Given the description of an element on the screen output the (x, y) to click on. 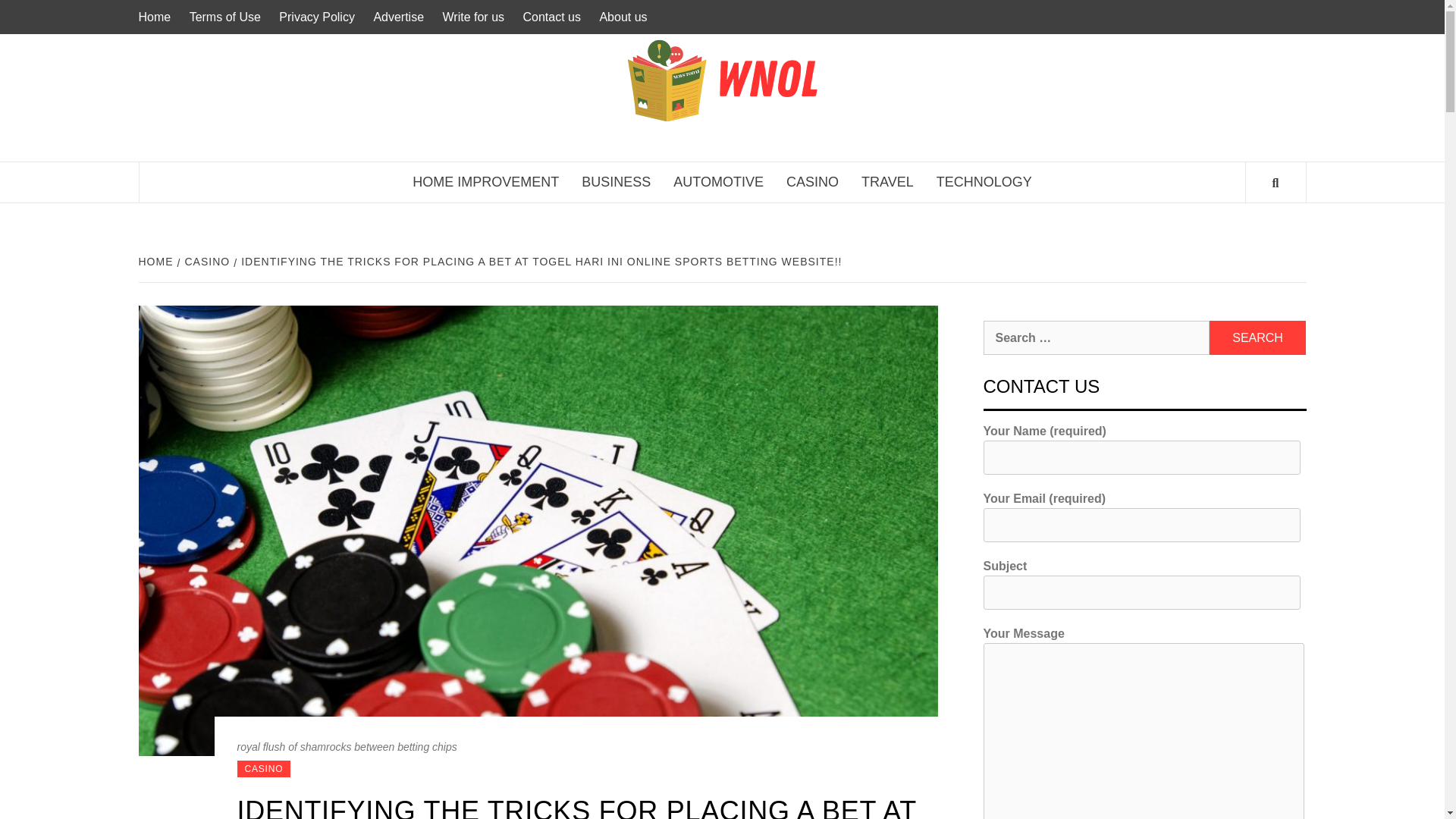
CASINO (205, 261)
TECHNOLOGY (983, 182)
Advertise (397, 17)
CASINO (262, 768)
Home (157, 17)
About us (622, 17)
CASINO (812, 182)
Search (1257, 337)
HOME (157, 261)
